Given the description of an element on the screen output the (x, y) to click on. 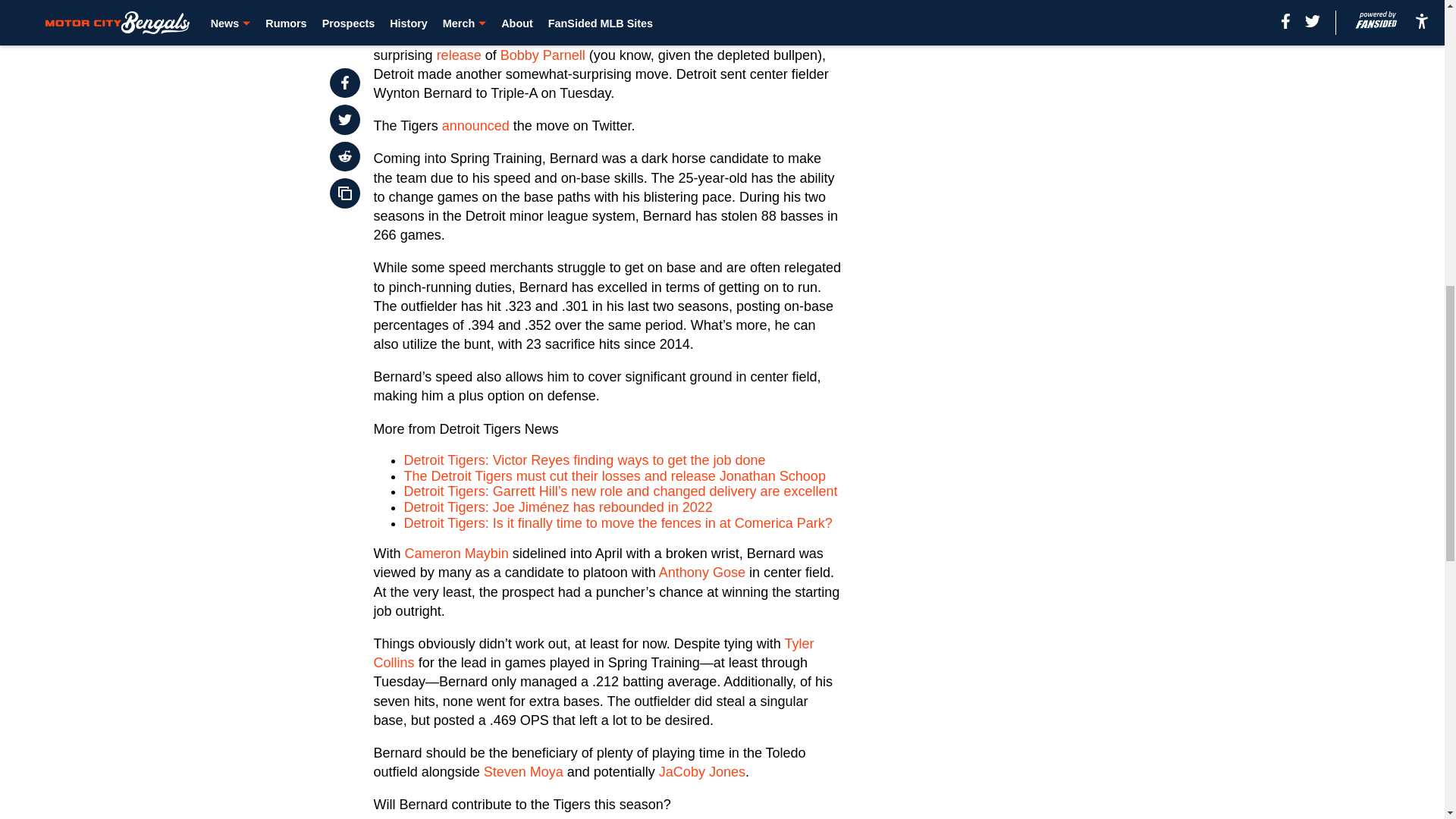
Wynton Bernard (447, 4)
release (458, 55)
announced (475, 125)
Bobby Parnell (542, 55)
